Given the description of an element on the screen output the (x, y) to click on. 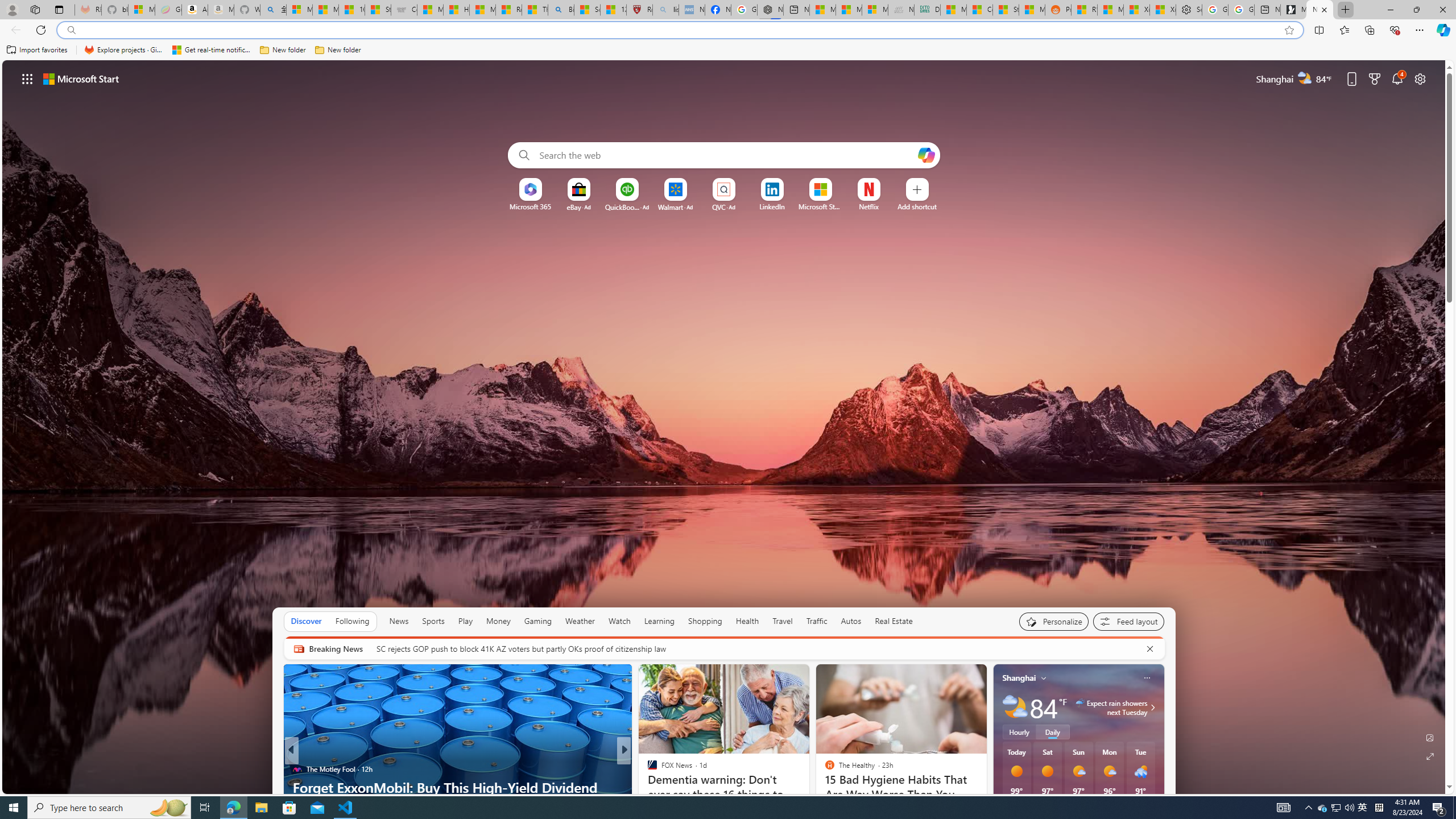
oceanbluemarine (668, 786)
Expand background (1430, 756)
Netflix (869, 206)
